Given the description of an element on the screen output the (x, y) to click on. 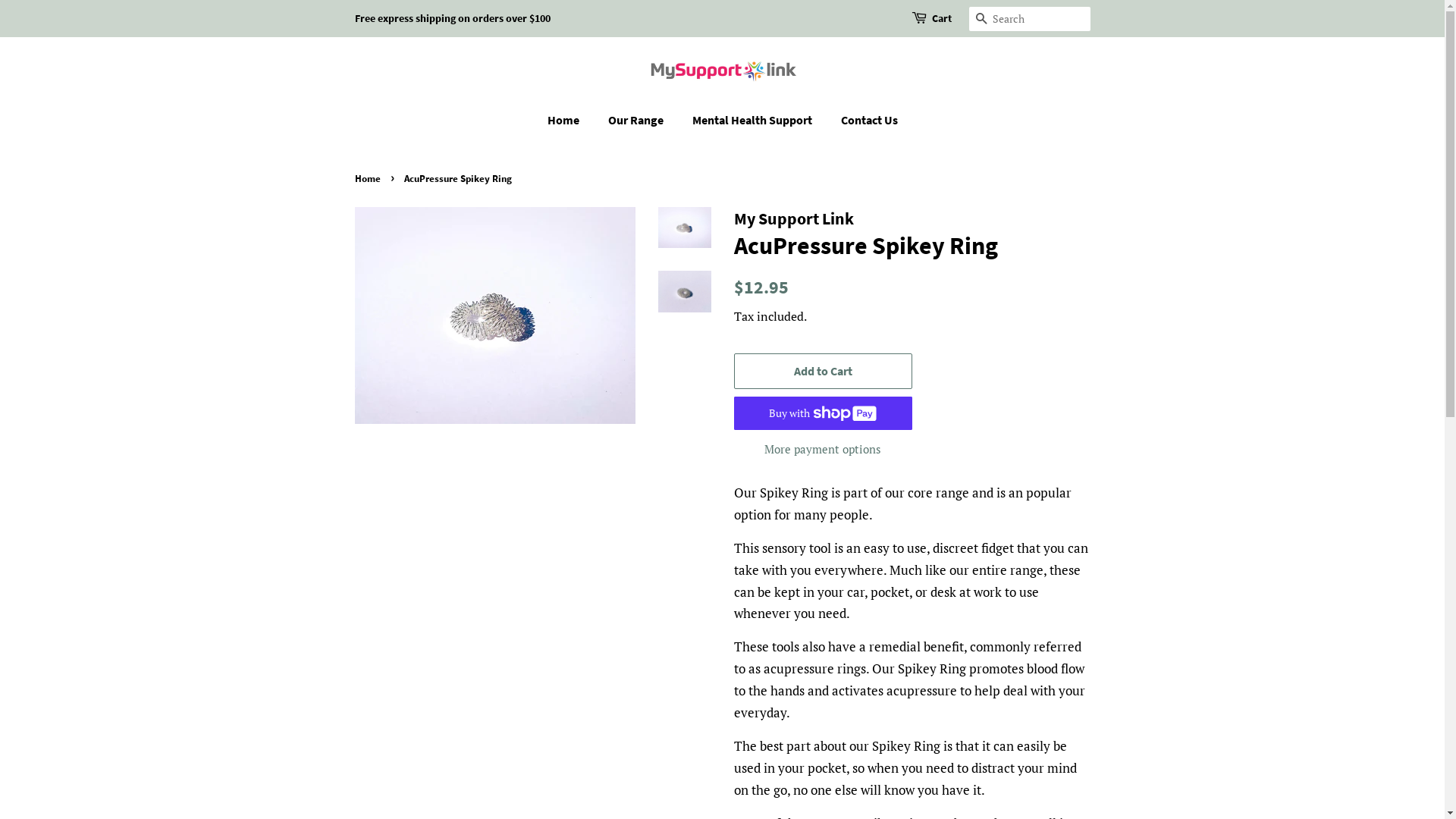
Mental Health Support Element type: text (753, 119)
Home Element type: text (570, 119)
Add to Cart Element type: text (823, 371)
Home Element type: text (369, 178)
Contact Us Element type: text (863, 119)
More payment options Element type: text (823, 448)
Search Element type: text (981, 18)
Our Range Element type: text (636, 119)
Cart Element type: text (940, 18)
